Given the description of an element on the screen output the (x, y) to click on. 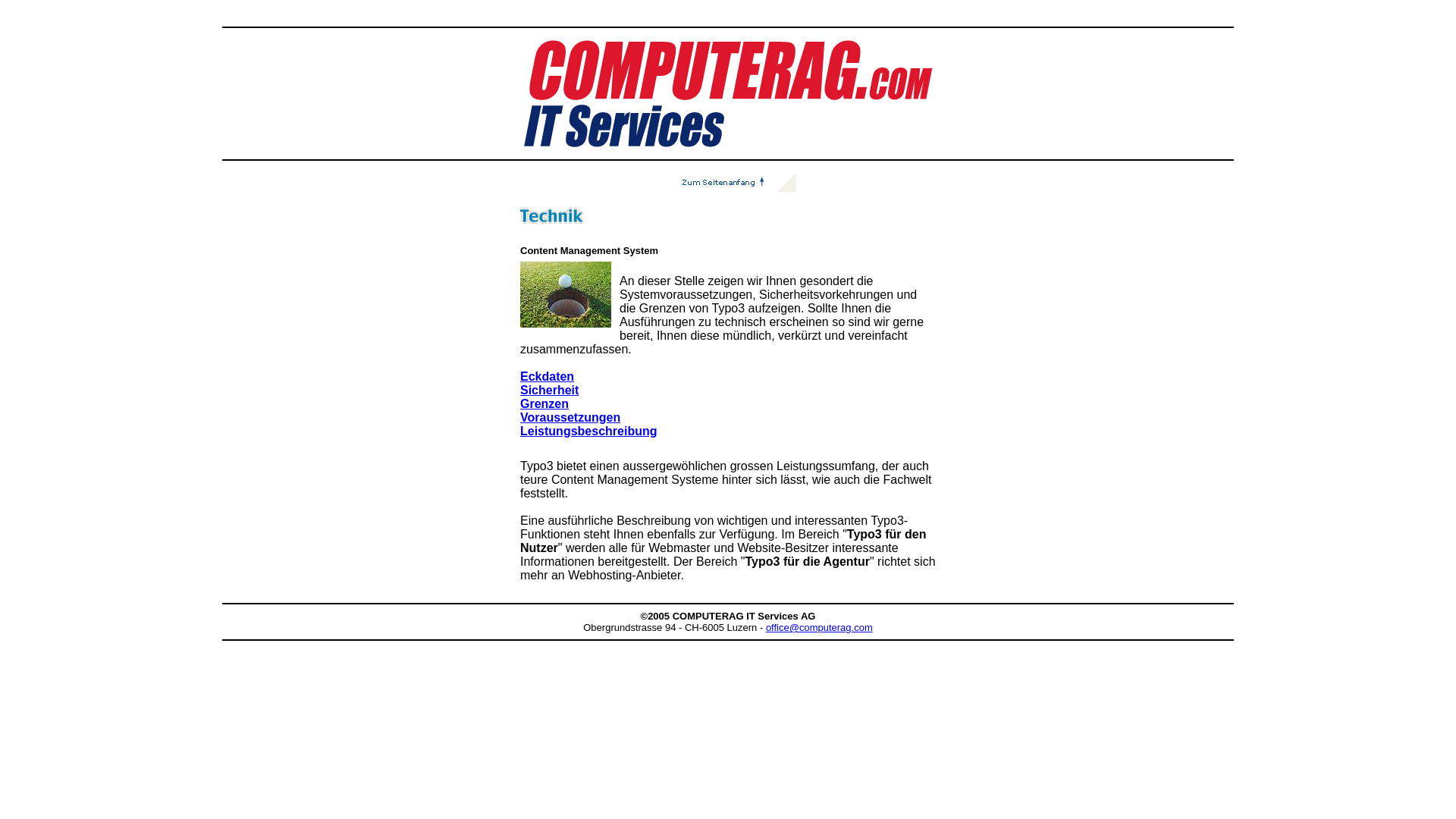
Grenzen Element type: text (544, 403)
Voraussetzungen Element type: text (570, 417)
Sicherheit Element type: text (549, 389)
Eckdaten Element type: text (547, 376)
office@computerag.com Element type: text (818, 627)
Leistungsbeschreibung Element type: text (588, 430)
